Given the description of an element on the screen output the (x, y) to click on. 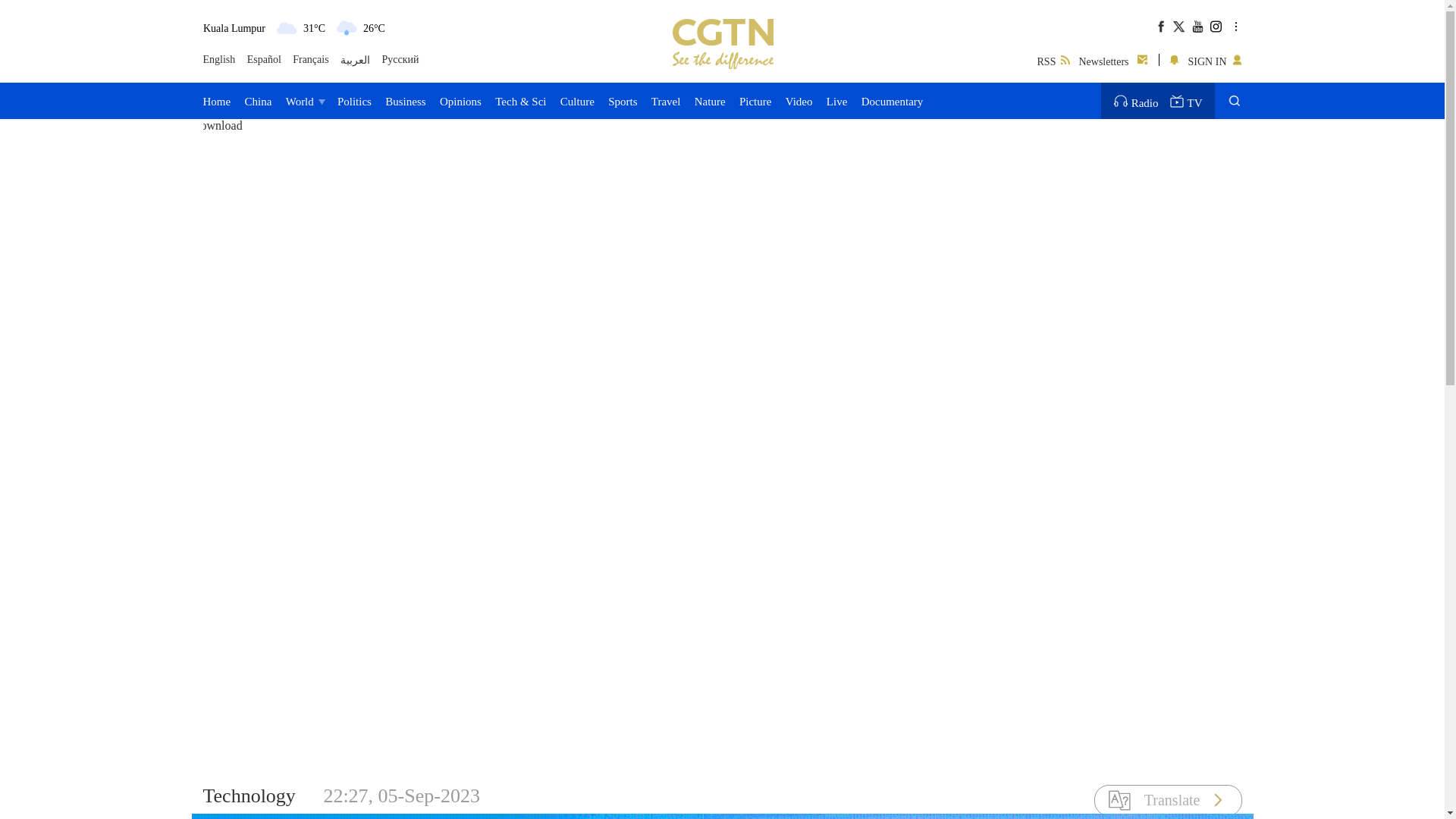
Politics (354, 100)
World (304, 100)
Overcast (286, 27)
Opinions (460, 100)
Newsletters (1114, 59)
Picture (755, 100)
Business (405, 100)
RSS (1052, 59)
Light rain (345, 27)
English (219, 60)
